Given the description of an element on the screen output the (x, y) to click on. 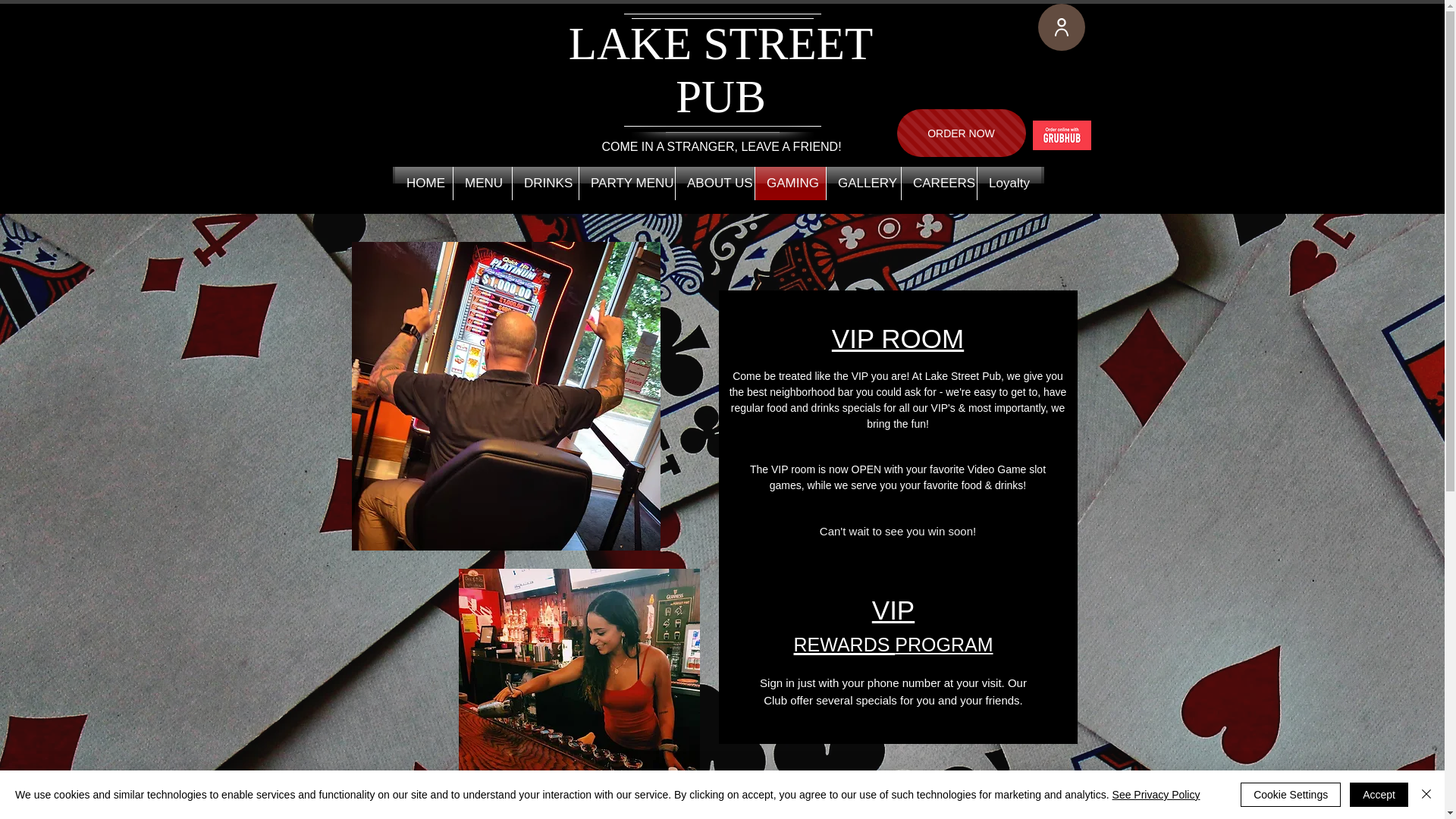
HOME (423, 183)
DRINKS (545, 183)
CAREERS (938, 183)
ORDER NOW (960, 132)
LAKE STREET PUB (721, 70)
GAMING (790, 183)
Accept (1378, 794)
PARTY MENU (627, 183)
Cookie Settings (1290, 794)
GALLERY (864, 183)
